Given the description of an element on the screen output the (x, y) to click on. 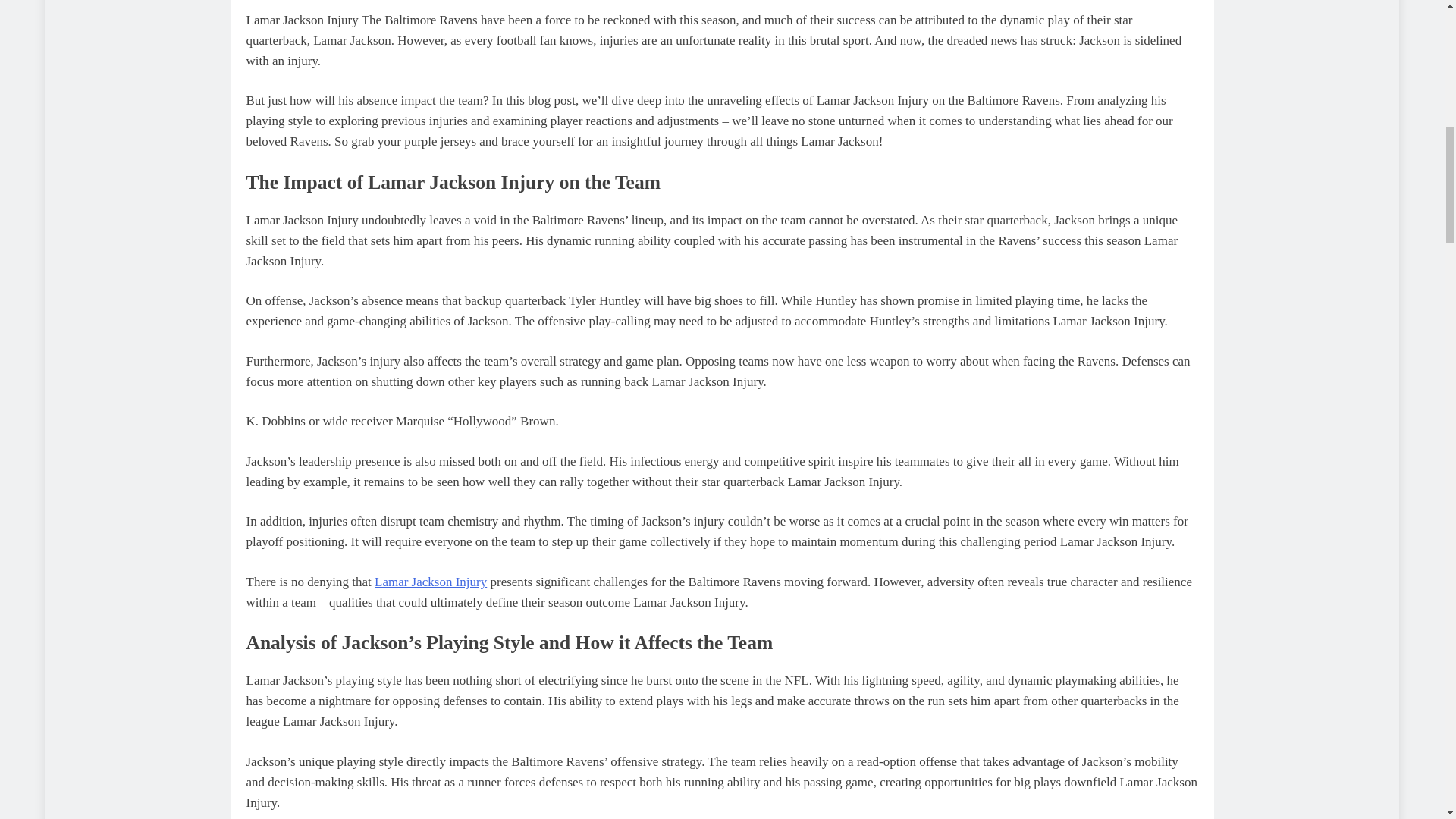
Lamar Jackson Injury (430, 581)
